Given the description of an element on the screen output the (x, y) to click on. 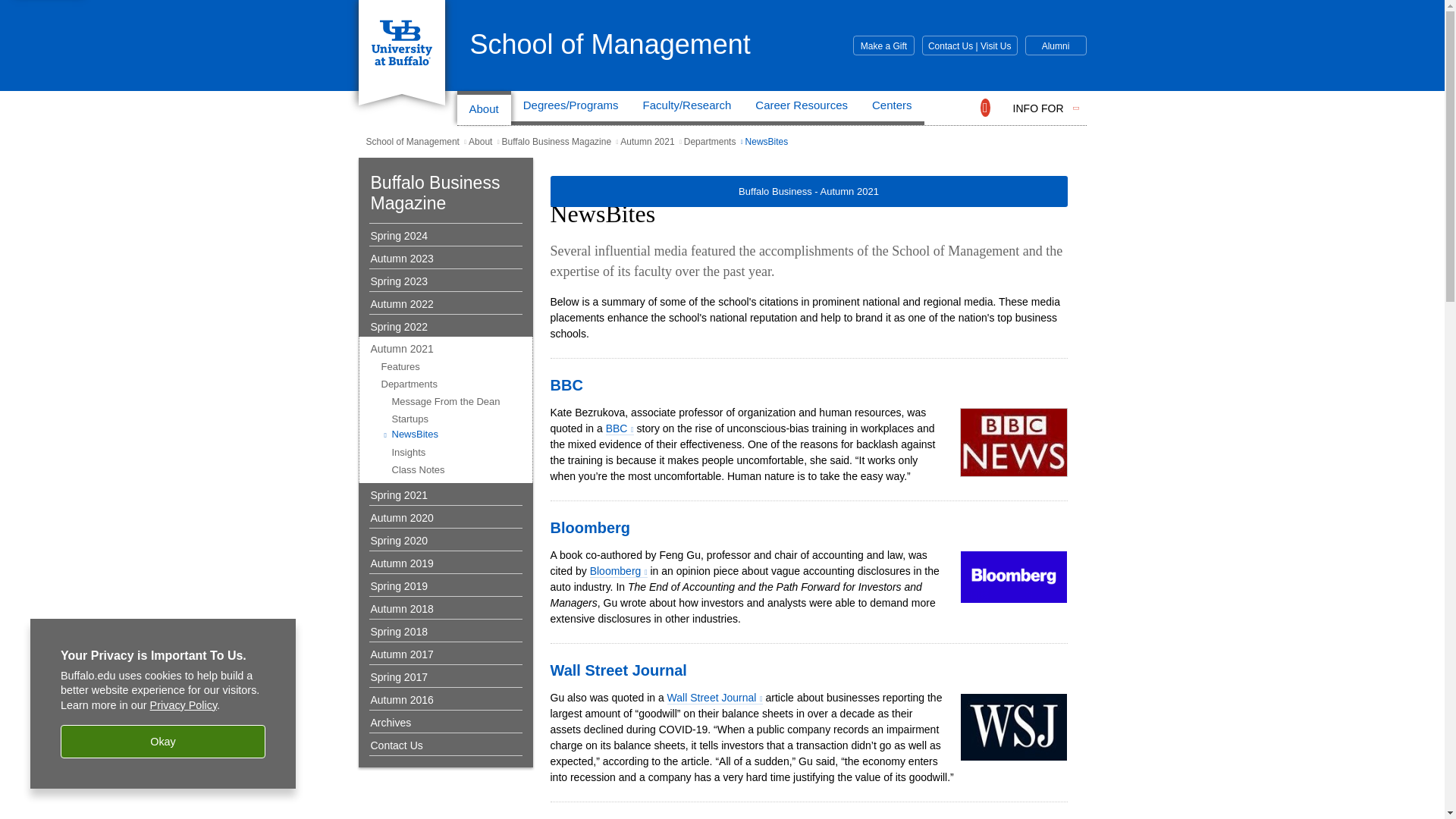
This link opens a page in a new window or tab. (714, 697)
Alumni (1055, 45)
About (484, 107)
School of Management (610, 43)
This link opens a page in a new window or tab. (619, 428)
Make a Gift (883, 45)
